Given the description of an element on the screen output the (x, y) to click on. 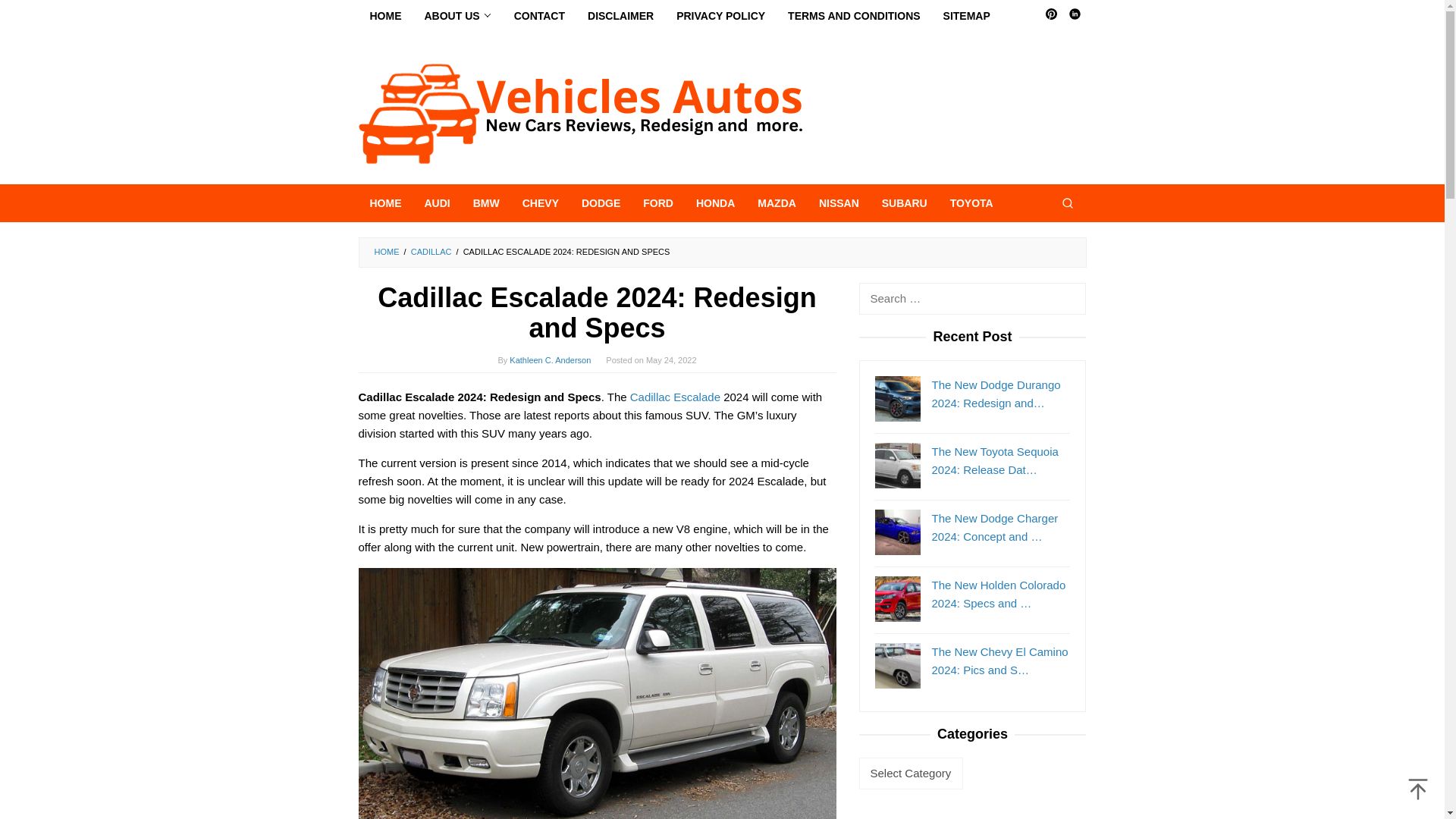
FORD (657, 202)
Kathleen C. Anderson (550, 359)
HOME (386, 251)
HOME (385, 202)
SUBARU (904, 202)
Permalink to: Kathleen C. Anderson (550, 359)
BMW (486, 202)
DISCLAIMER (620, 15)
AUDI (436, 202)
CHEVY (540, 202)
PRIVACY POLICY (720, 15)
SITEMAP (966, 15)
CADILLAC (430, 251)
ABOUT US (457, 15)
